Given the description of an element on the screen output the (x, y) to click on. 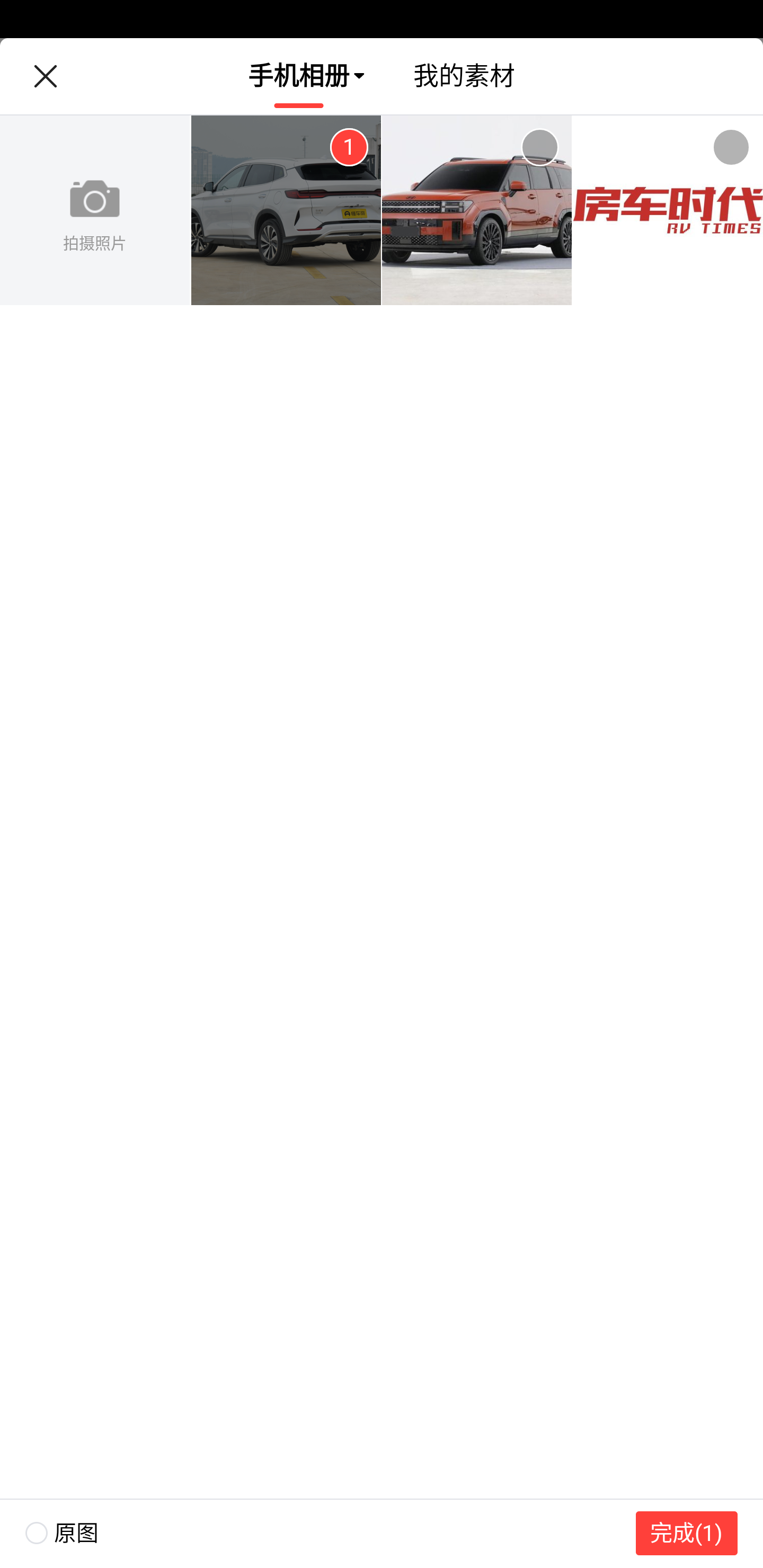
返回 (44, 75)
手机相册 (298, 75)
我的素材 (464, 75)
拍摄照片 (94, 210)
图片1 (285, 210)
已选中1 1 (348, 147)
图片2 (476, 210)
未选中 (539, 147)
图片3 (668, 210)
未选中 (731, 147)
原图 (49, 1533)
完成(1) 完成 (1) (686, 1533)
